Given the description of an element on the screen output the (x, y) to click on. 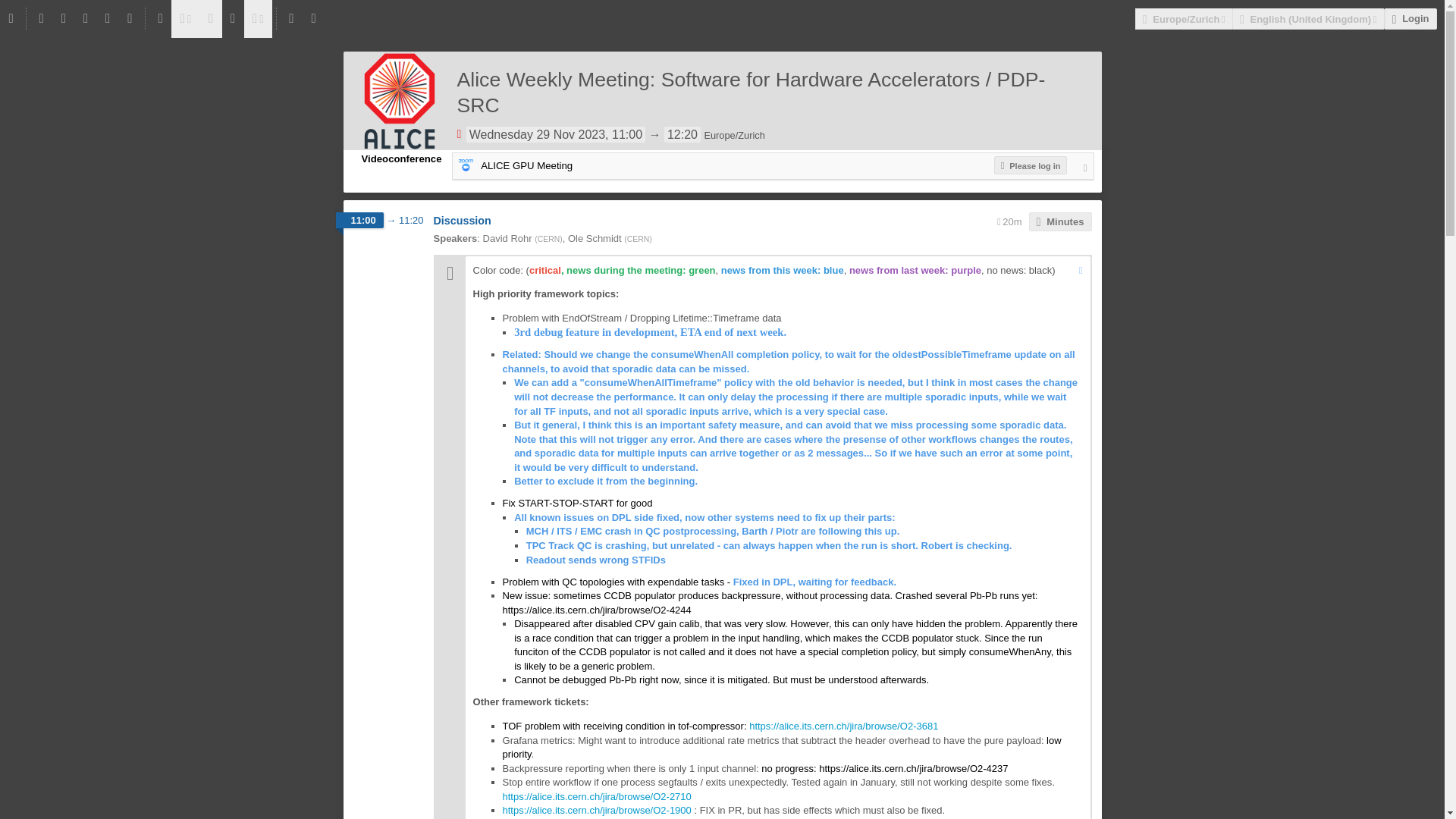
Please log in (1030, 165)
Login (1410, 19)
This Zoom Meeting can only be seen by logged in users (1030, 165)
